Given the description of an element on the screen output the (x, y) to click on. 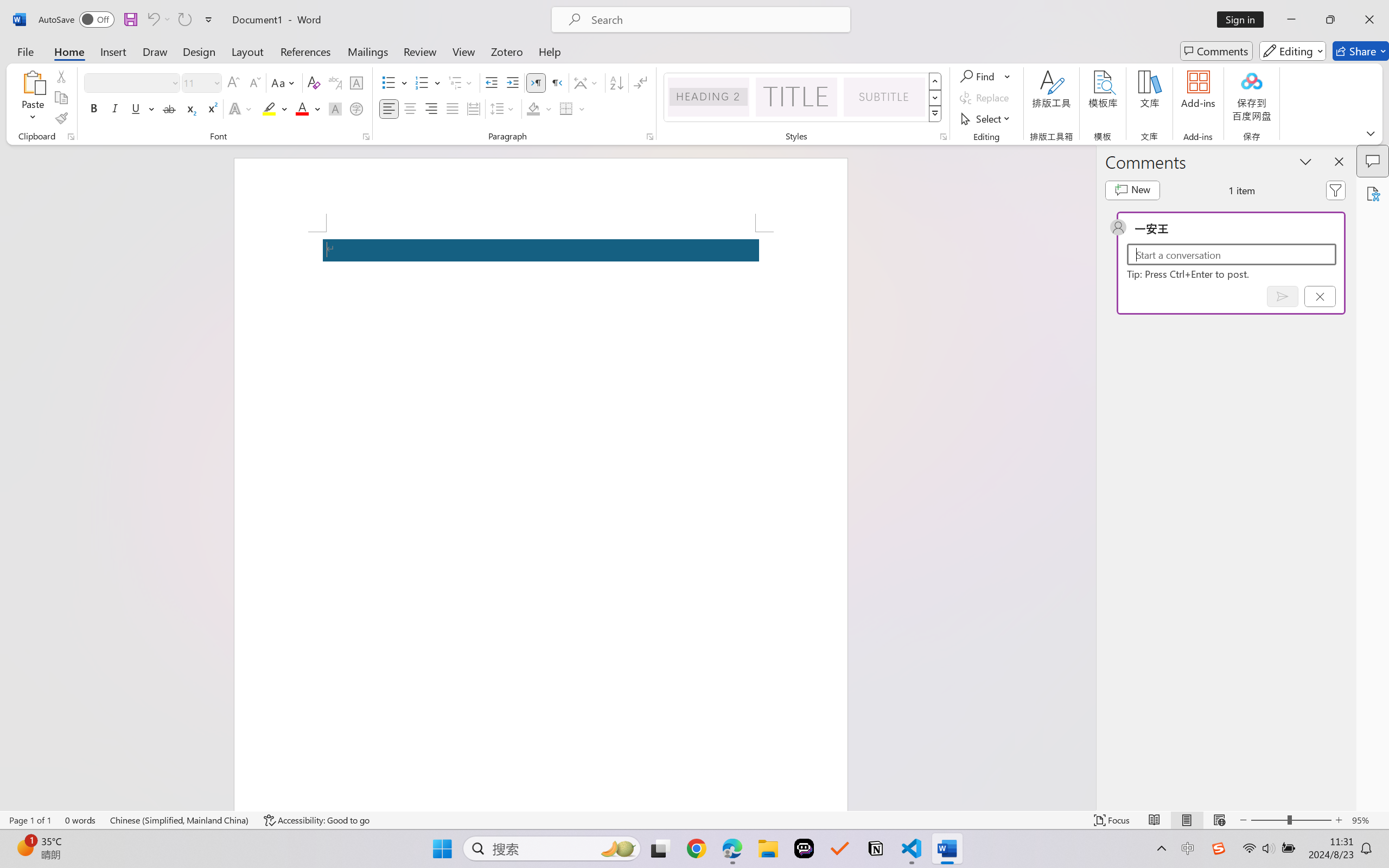
Subtitle (883, 96)
